Given the description of an element on the screen output the (x, y) to click on. 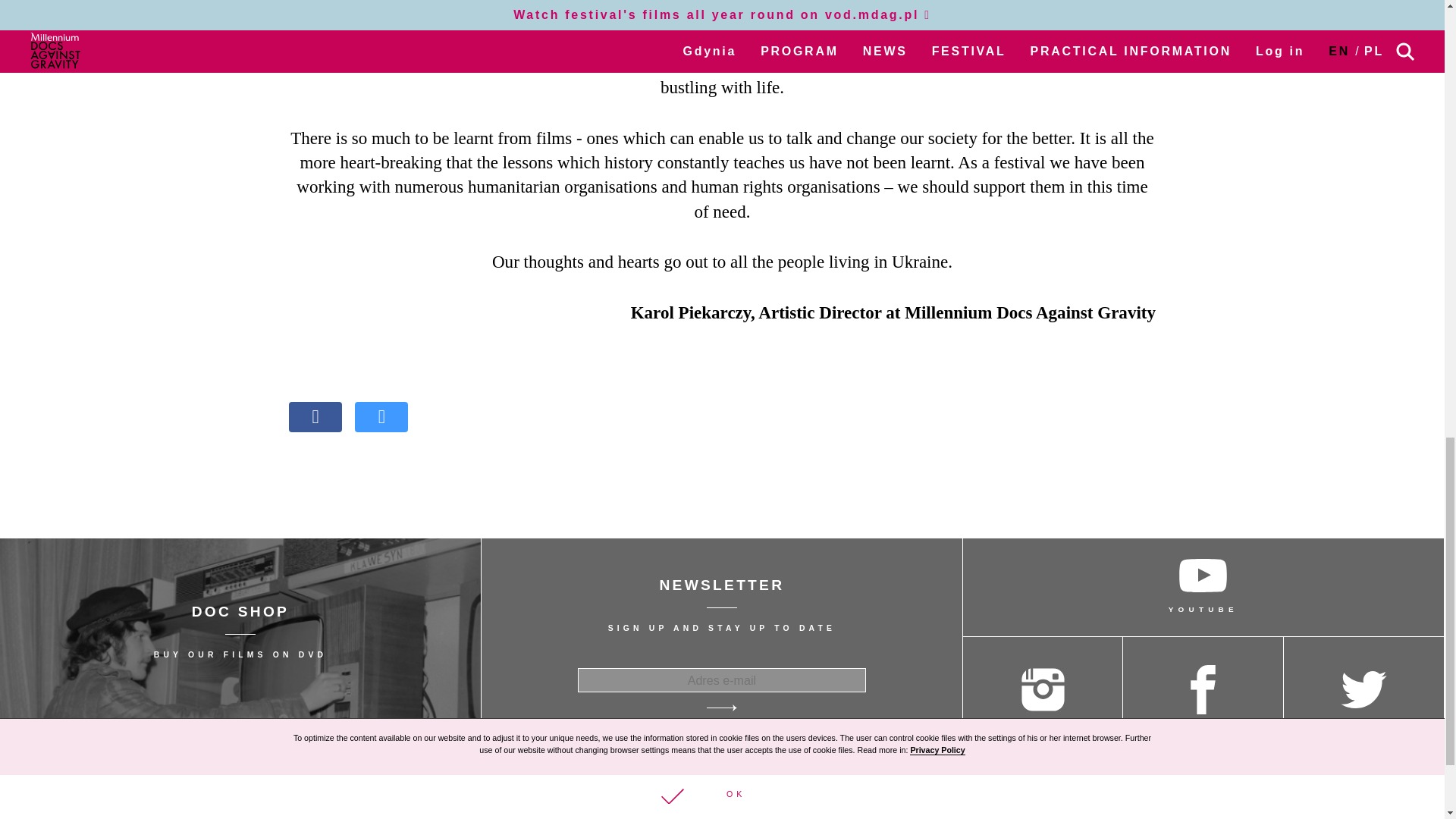
FACEBOOK (240, 646)
INSTAGRAM (1203, 695)
